Given the description of an element on the screen output the (x, y) to click on. 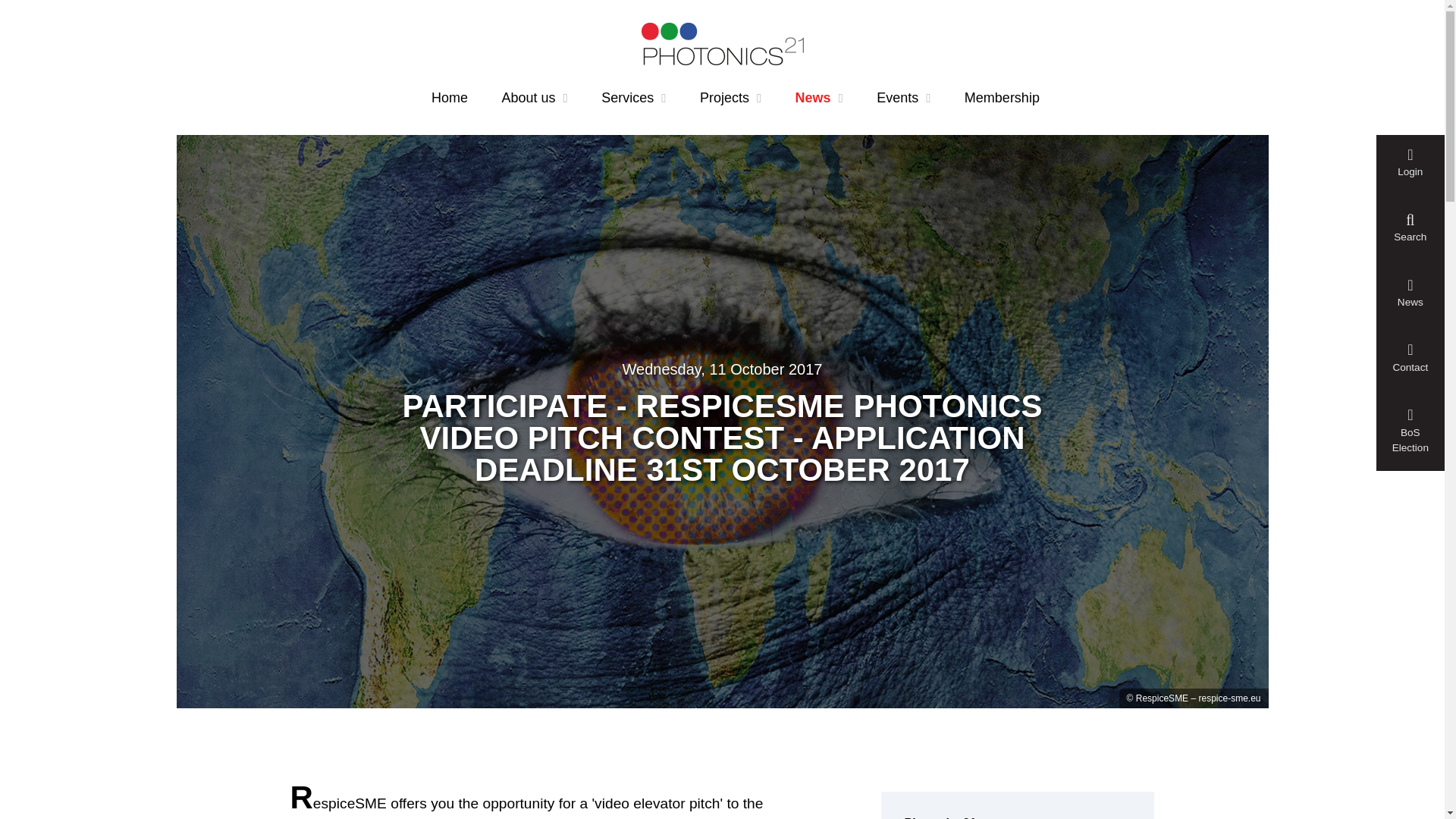
Home (449, 98)
About us (534, 98)
Services (633, 98)
